Given the description of an element on the screen output the (x, y) to click on. 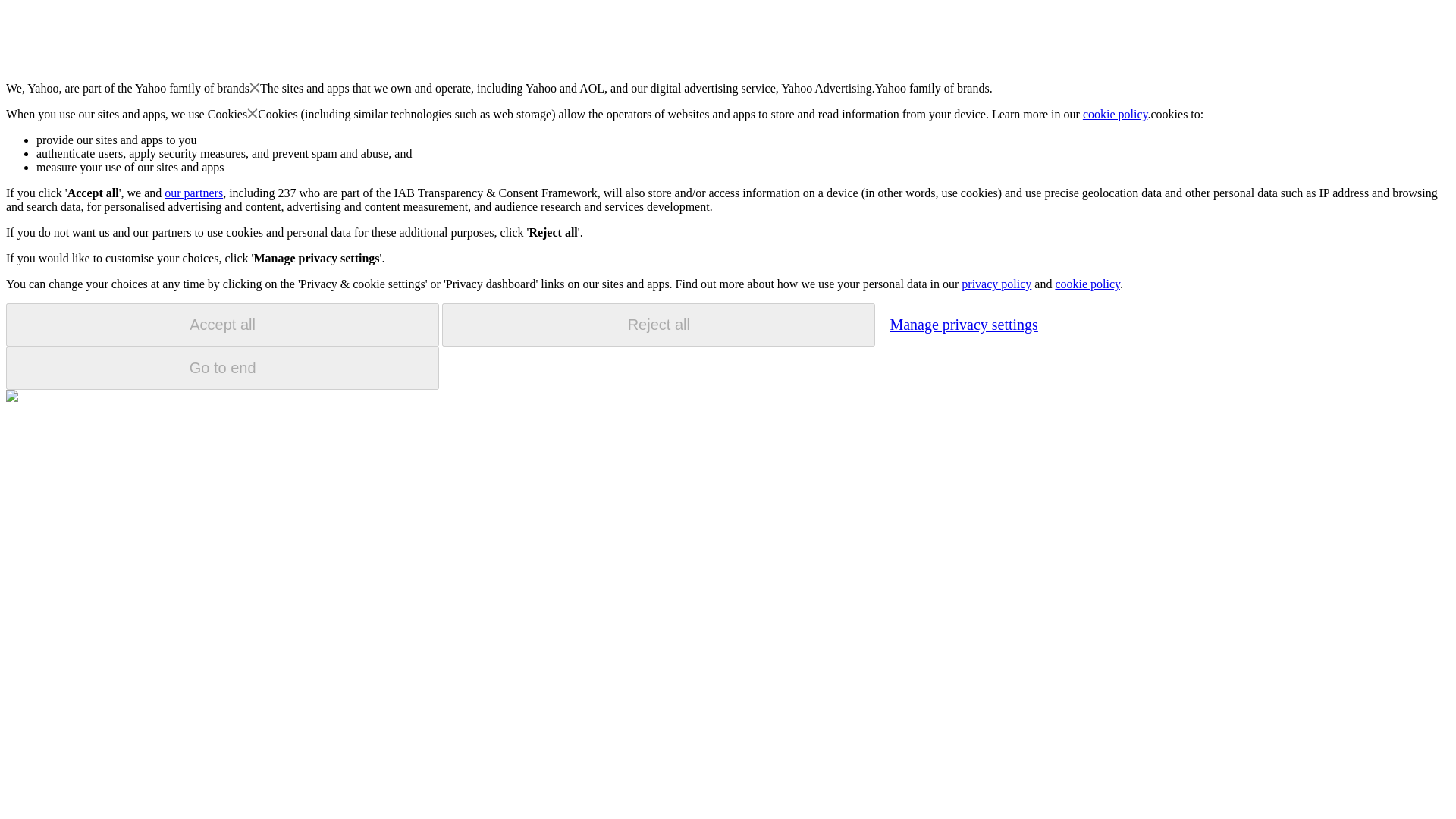
our partners (193, 192)
Manage privacy settings (963, 323)
Reject all (658, 324)
Go to end (222, 367)
Accept all (222, 324)
cookie policy (1115, 113)
cookie policy (1086, 283)
privacy policy (995, 283)
